Given the description of an element on the screen output the (x, y) to click on. 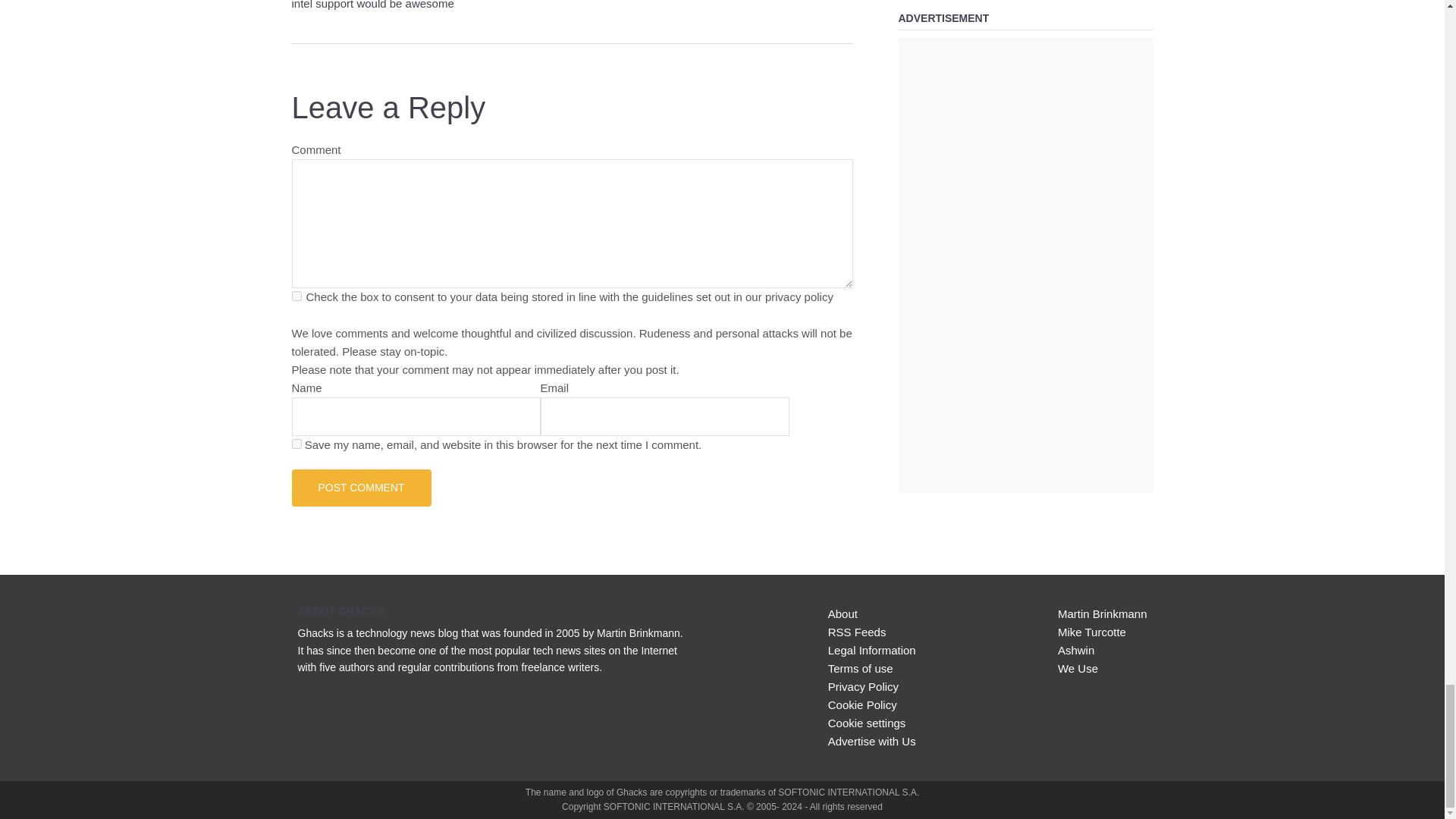
Post Comment (360, 487)
yes (296, 443)
privacy-key (296, 296)
